Given the description of an element on the screen output the (x, y) to click on. 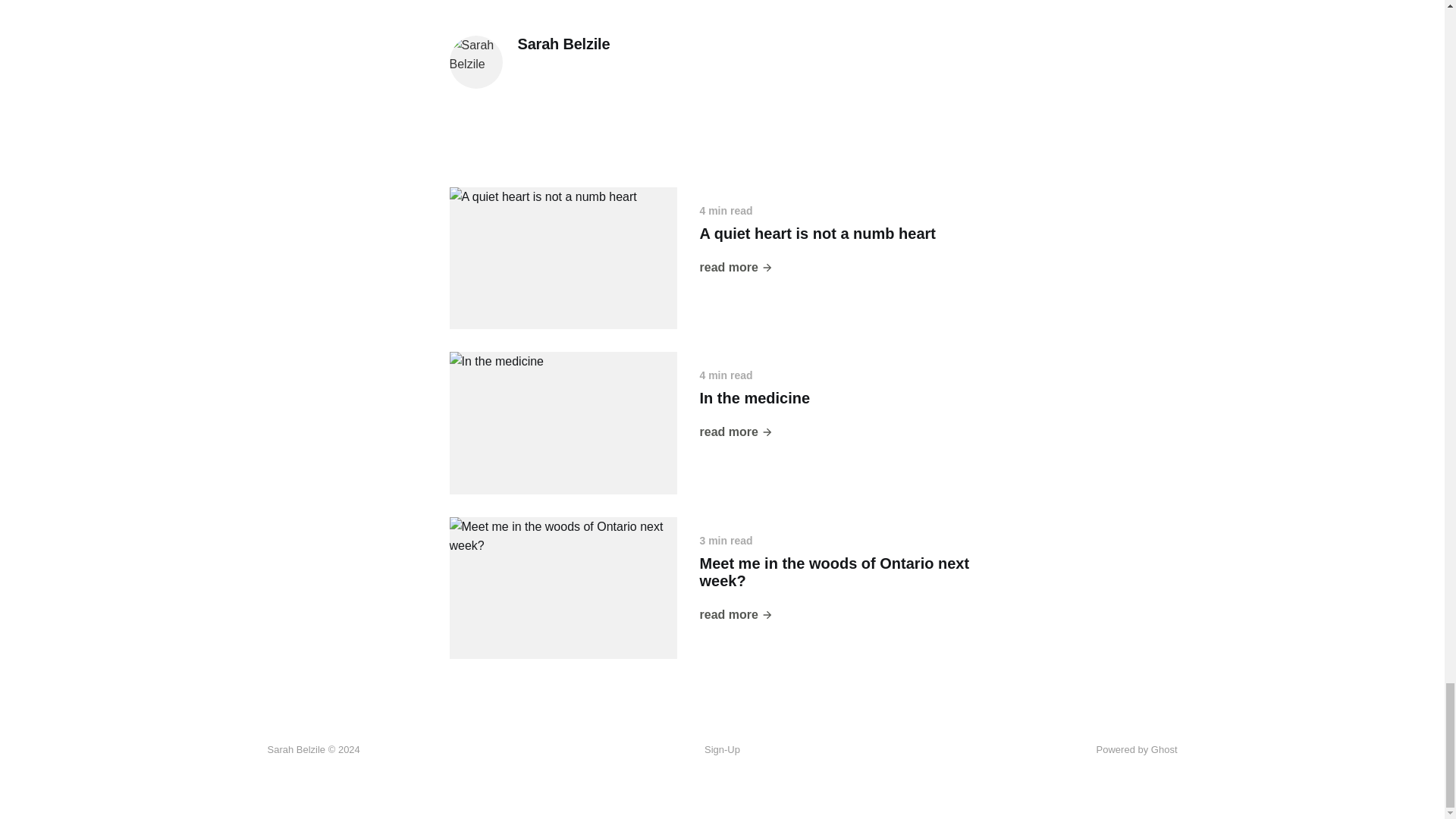
read more (735, 614)
Meet me in the woods of Ontario next week? (833, 571)
read more (735, 432)
A quiet heart is not a numb heart (817, 233)
read more (735, 267)
Sign-Up (721, 750)
Sarah Belzile (563, 44)
Powered by Ghost (1136, 749)
In the medicine (753, 397)
